Given the description of an element on the screen output the (x, y) to click on. 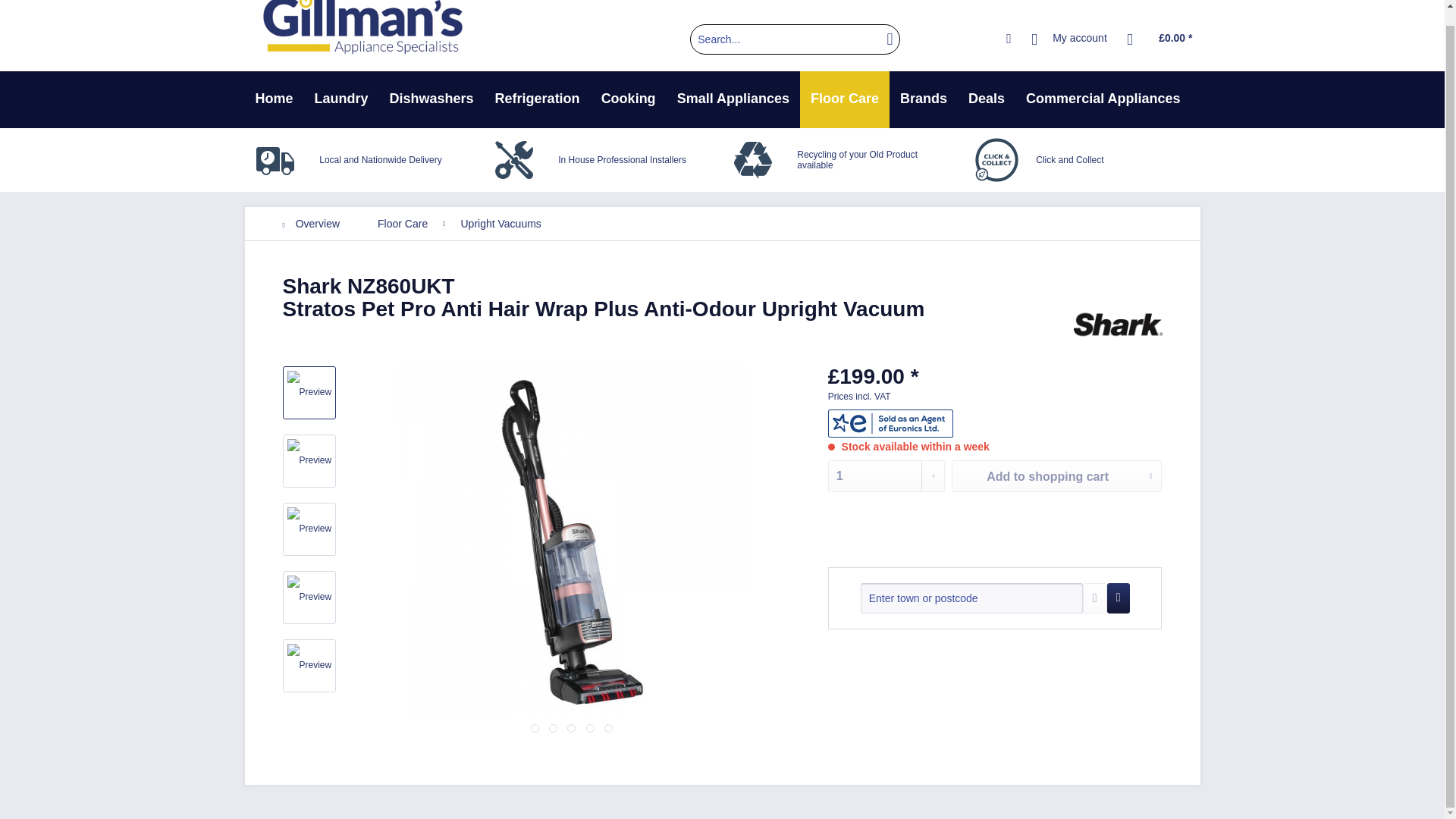
My account (1070, 39)
Laundry (341, 99)
Commercial Appliances (1102, 99)
Refrigeration (537, 99)
Shopping cart (1160, 39)
Dishwashers (431, 99)
Home (273, 99)
Dishwashers (431, 99)
Brands (923, 99)
Floor Care (844, 99)
